Given the description of an element on the screen output the (x, y) to click on. 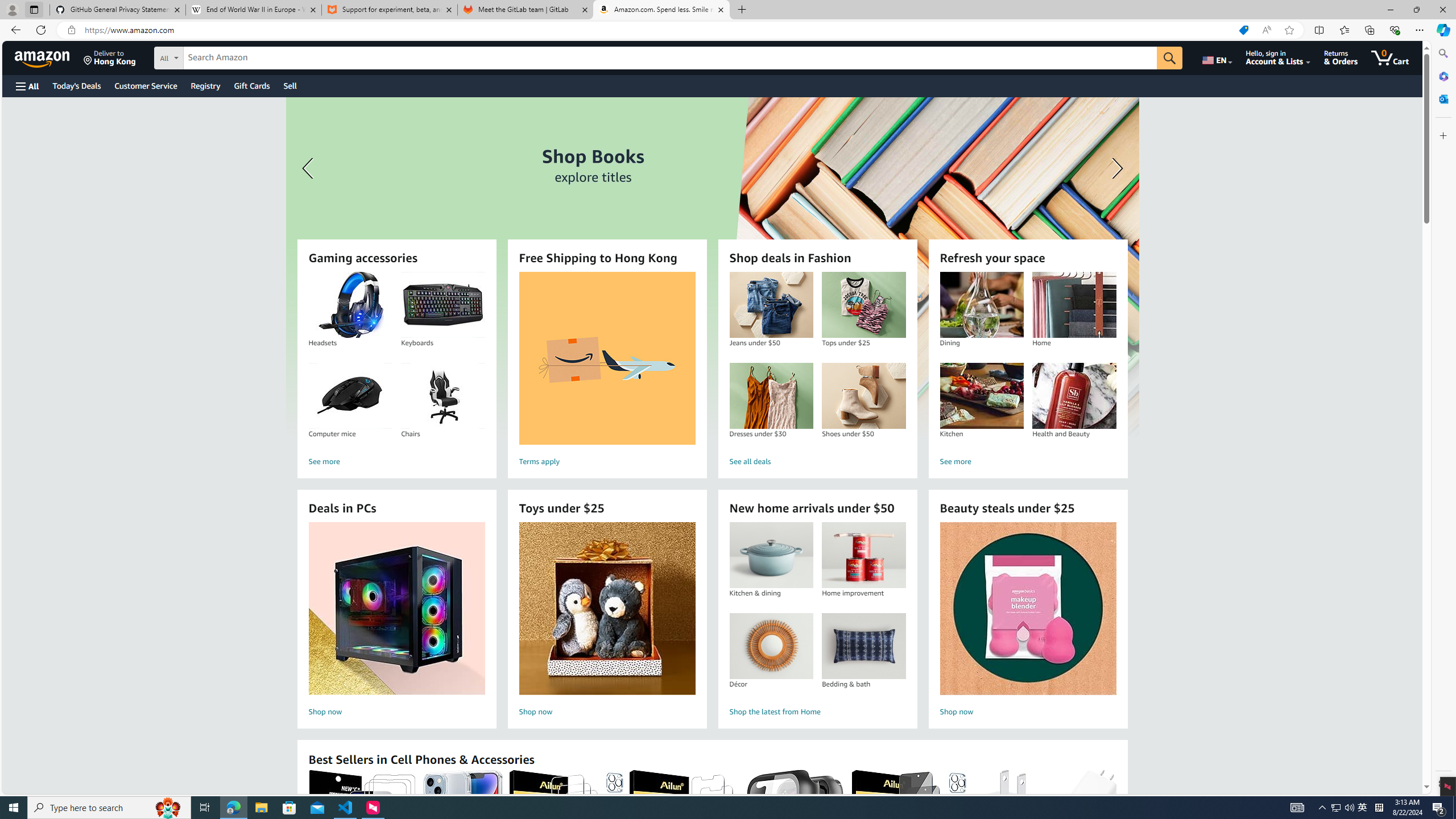
Today's Deals (76, 85)
Chairs (442, 395)
Gift Cards (251, 85)
Class: a-carousel-card (711, 267)
Kitchen & dining (771, 555)
Beauty steals under $25 Shop now (1028, 620)
Dining (981, 304)
Meet the GitLab team | GitLab (525, 9)
Kitchen (981, 395)
Beauty steals under $25 (1027, 608)
